Given the description of an element on the screen output the (x, y) to click on. 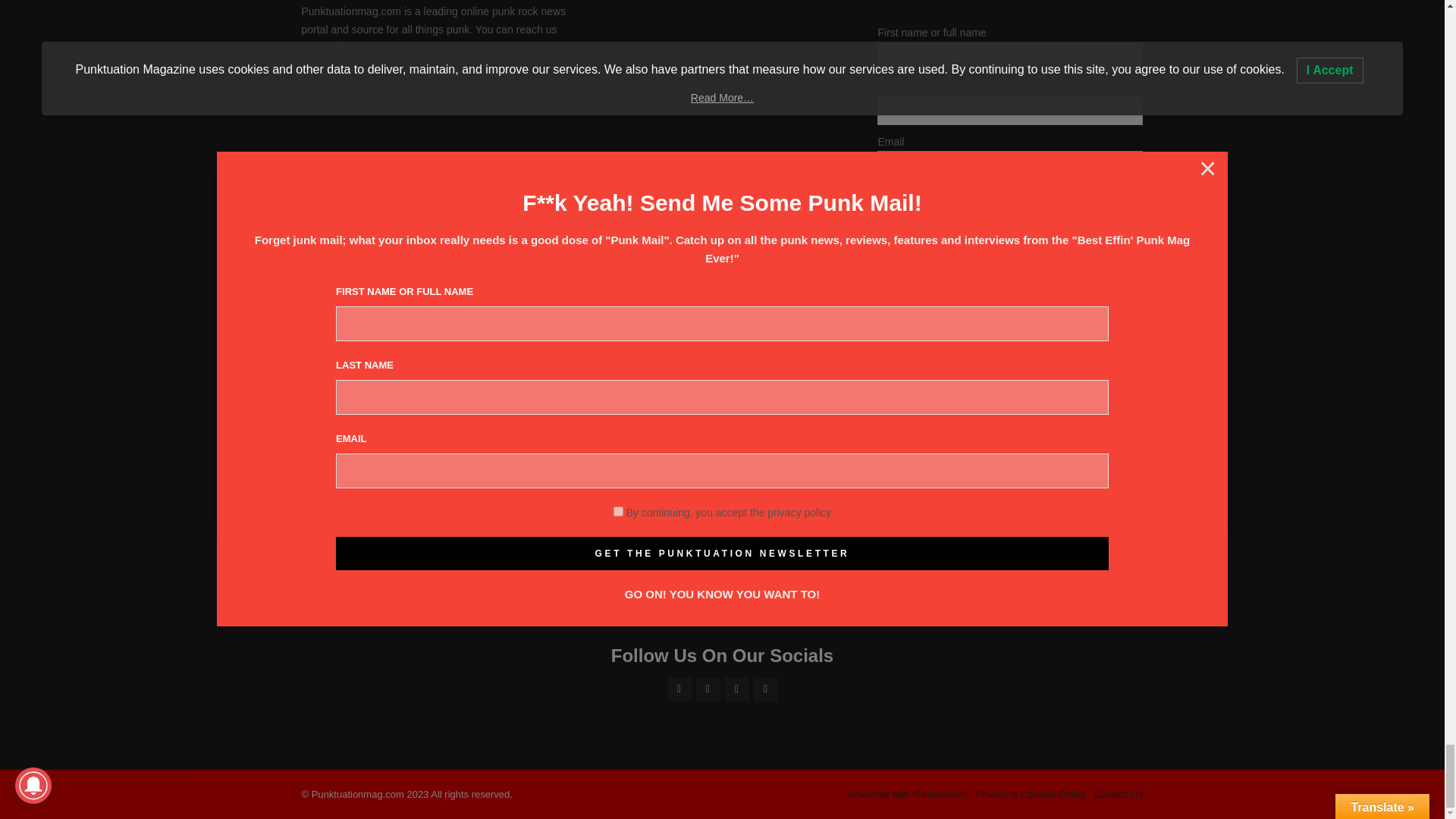
on (881, 249)
